Given the description of an element on the screen output the (x, y) to click on. 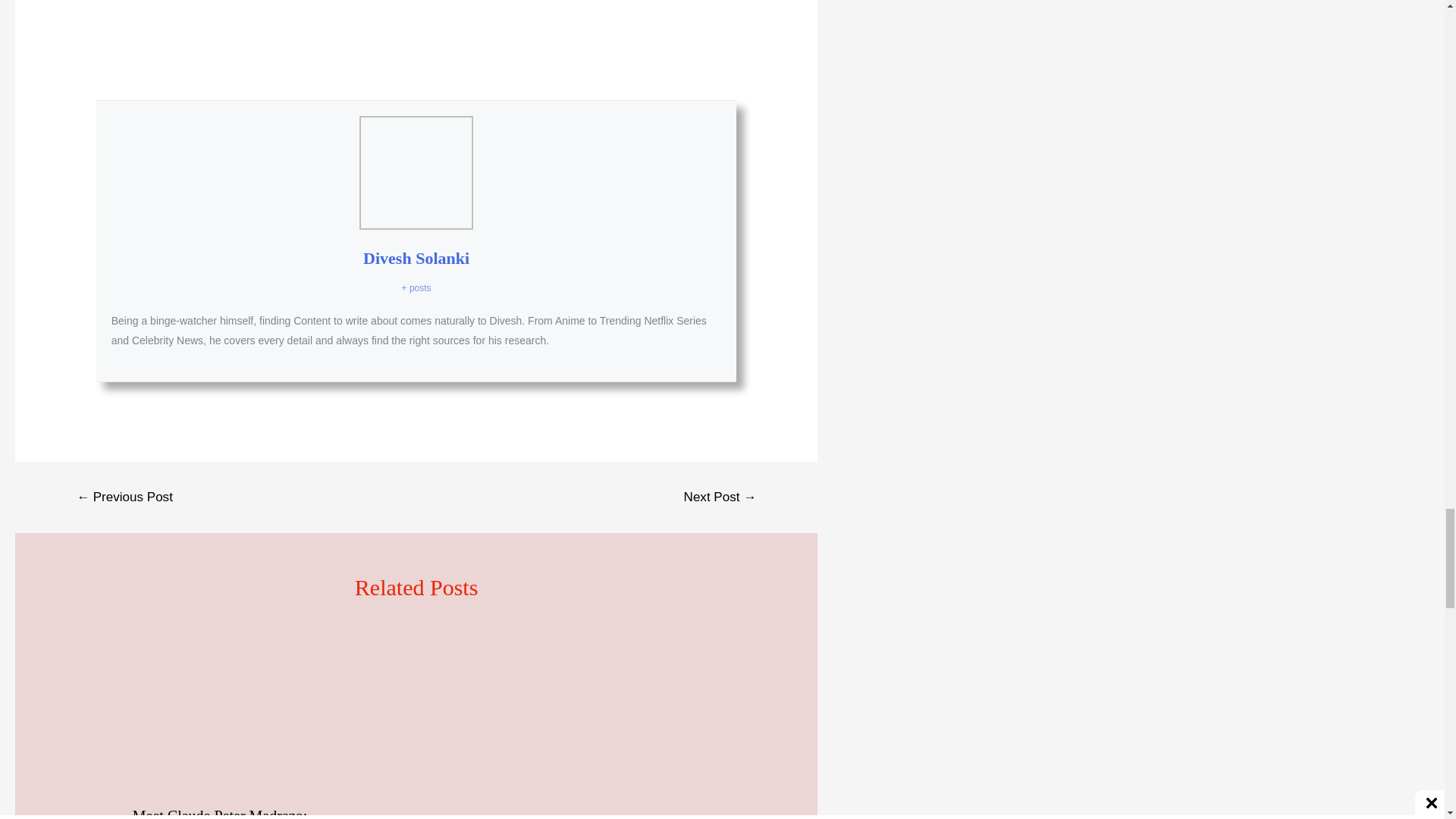
Divesh Solanki (415, 257)
